Given the description of an element on the screen output the (x, y) to click on. 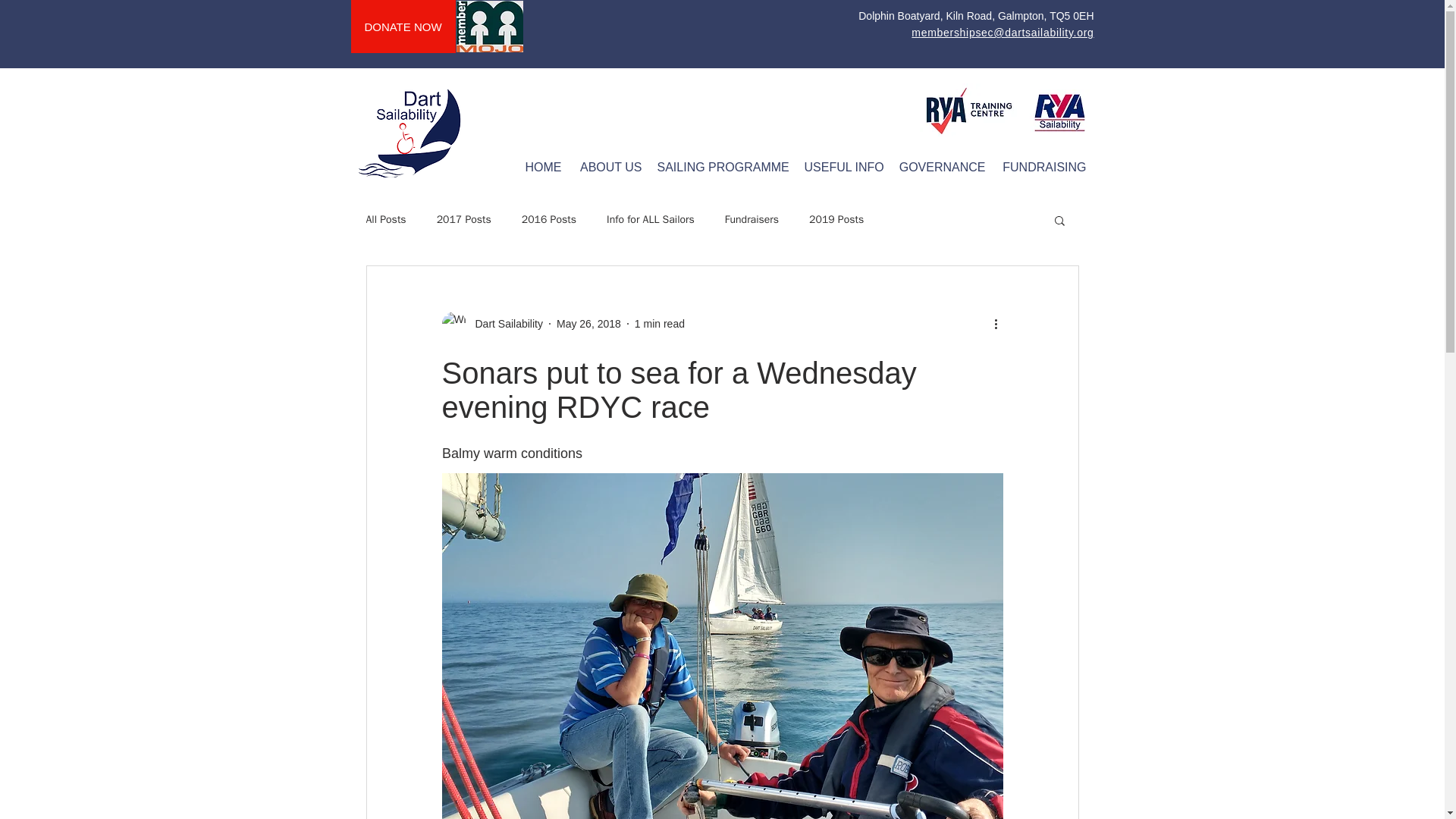
HOME (541, 167)
DONATE NOW (402, 26)
Dart Sailability (491, 323)
Fundraisers (751, 219)
ABOUT US (609, 167)
FUNDRAISING (1043, 167)
GOVERNANCE (940, 167)
Info for ALL Sailors (650, 219)
All Posts (385, 219)
2016 Posts (548, 219)
MemberMojo icon.jpg (489, 26)
2019 Posts (836, 219)
Dart Sailability (503, 323)
SAILING PROGRAMME (722, 167)
1 min read (659, 322)
